Given the description of an element on the screen output the (x, y) to click on. 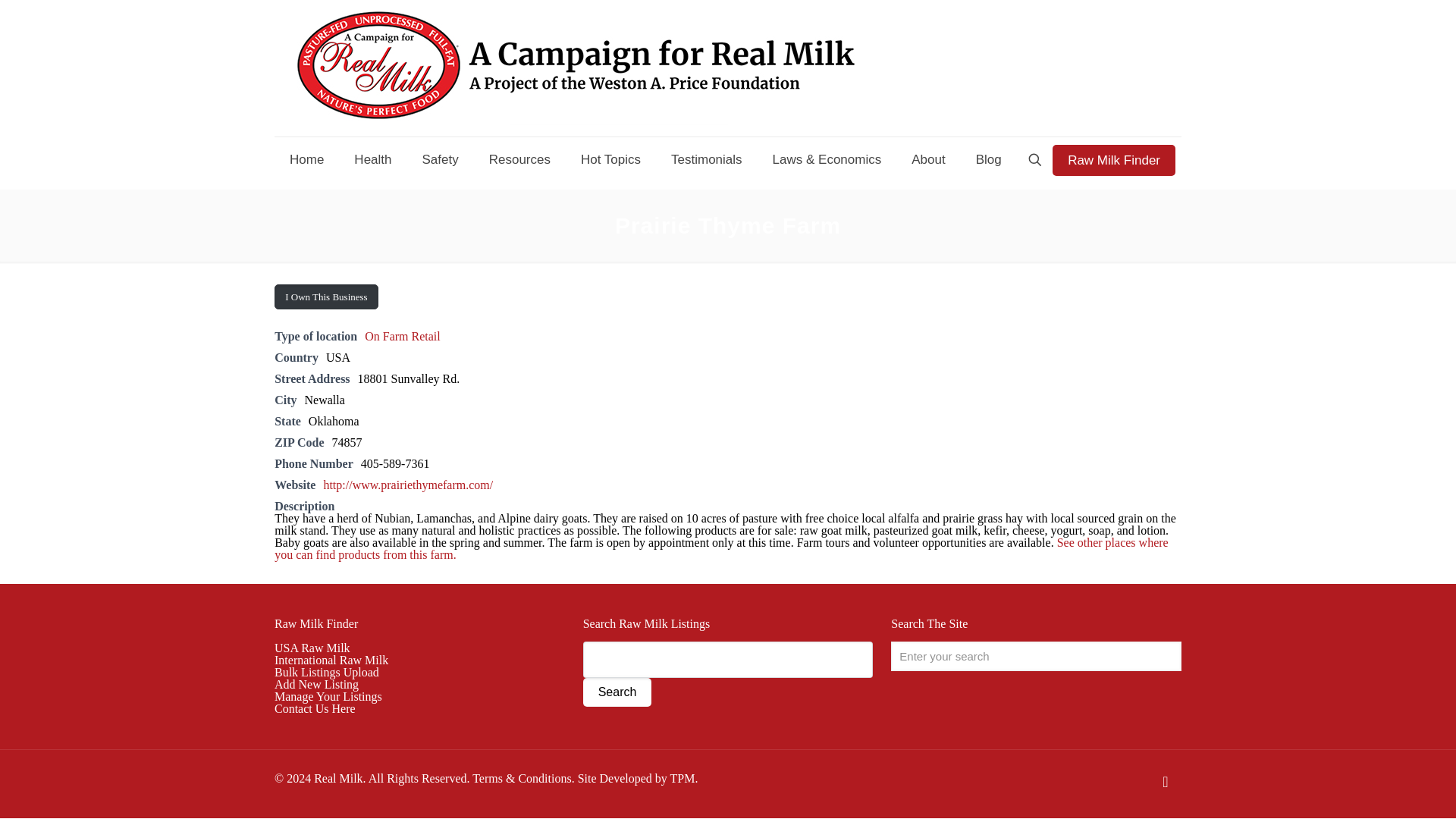
Search (617, 692)
Home (307, 159)
Blog (988, 159)
Safety (439, 159)
Search (617, 692)
See other places where you can find products from this farm. (722, 548)
On Farm Retail (403, 336)
I Own This Business (326, 296)
Testimonials (706, 159)
Resources (520, 159)
